Given the description of an element on the screen output the (x, y) to click on. 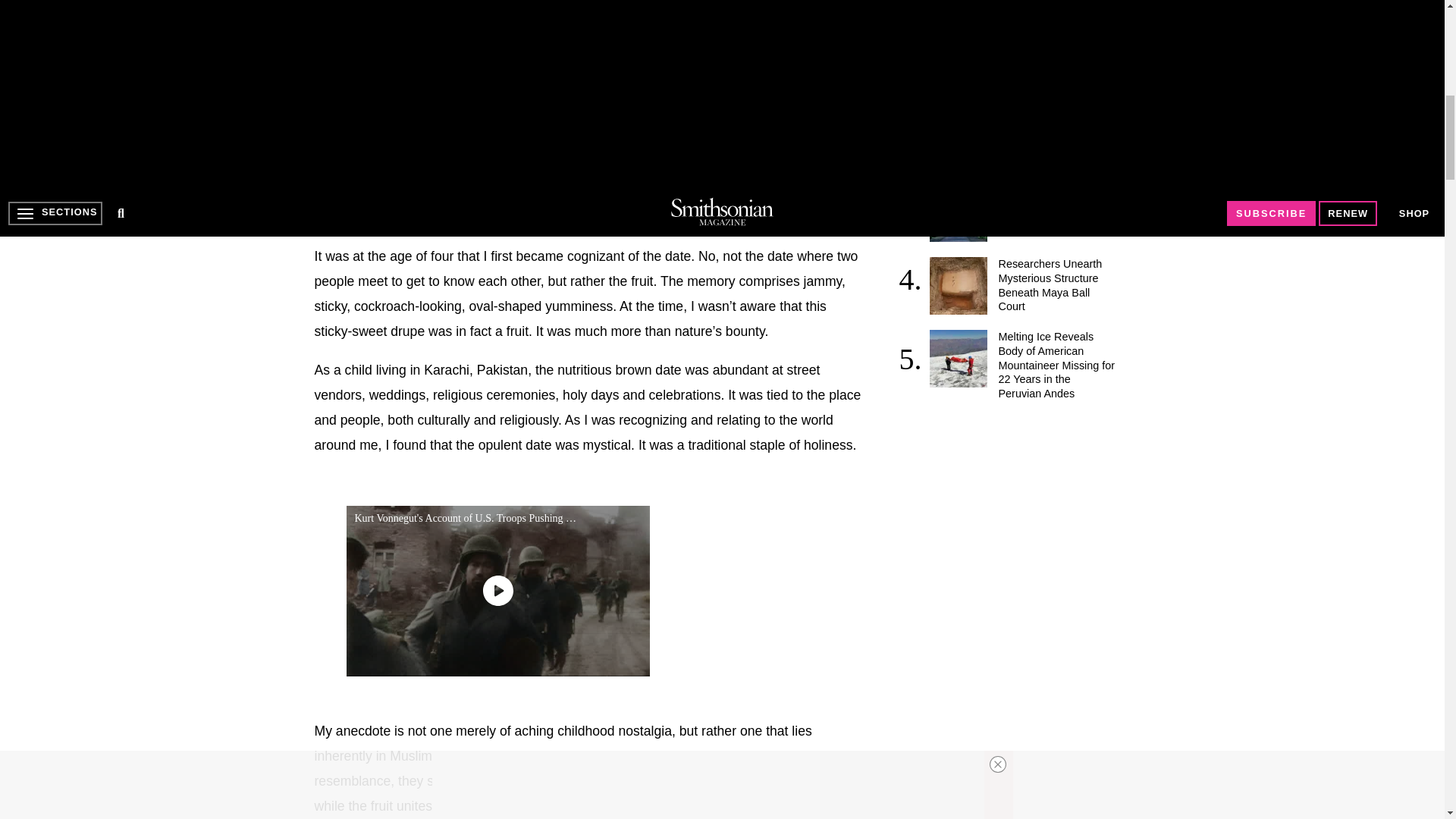
Pocket (480, 210)
Reddit (418, 210)
WhatsApp (450, 210)
Print (511, 210)
Email (542, 210)
Facebook (325, 210)
LinkedIn (387, 210)
Twitter (357, 210)
